Given the description of an element on the screen output the (x, y) to click on. 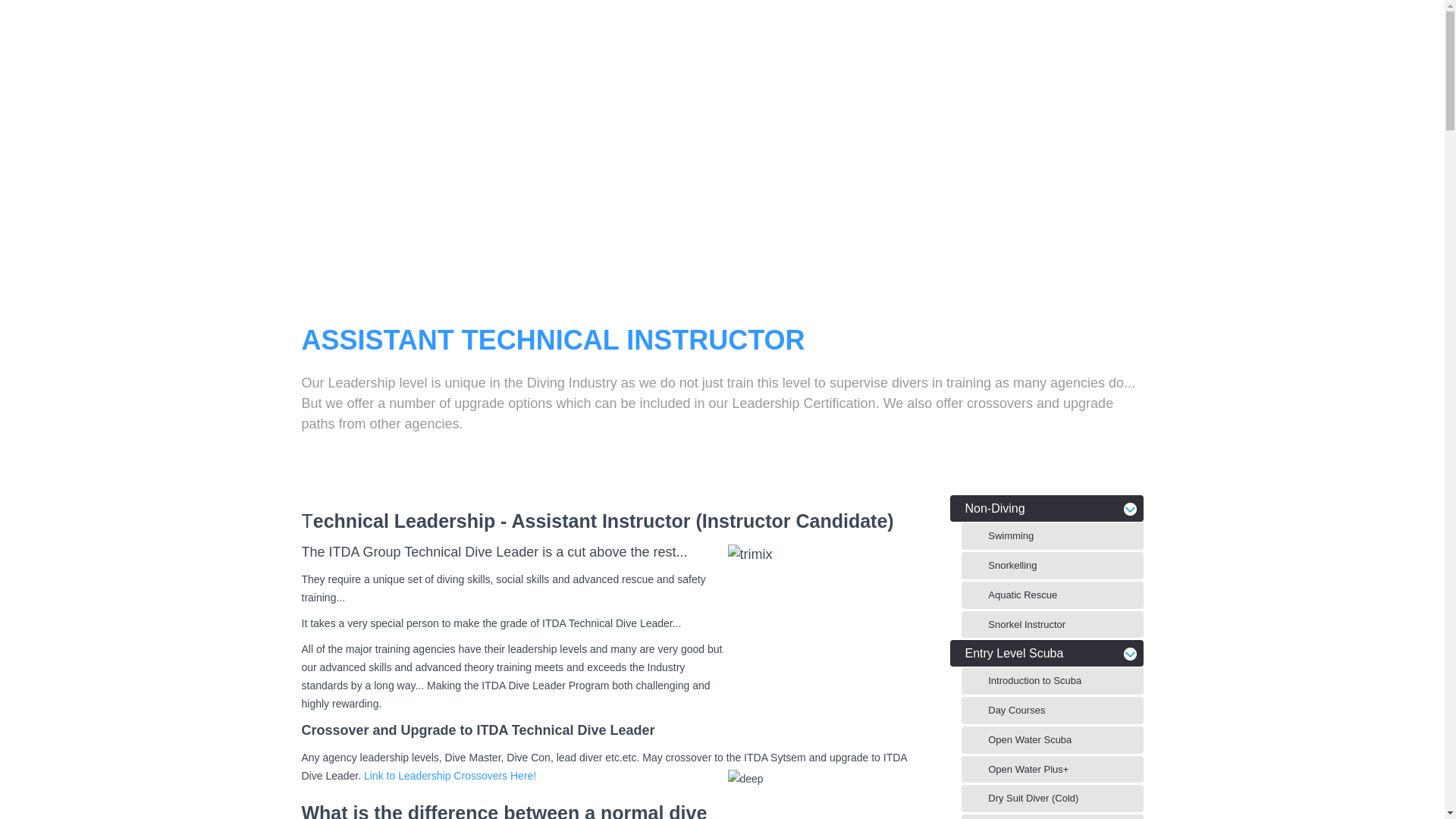
PARTNERS  (829, 37)
COURSES (739, 37)
diveitda.com (85, 37)
HOME (661, 37)
